Given the description of an element on the screen output the (x, y) to click on. 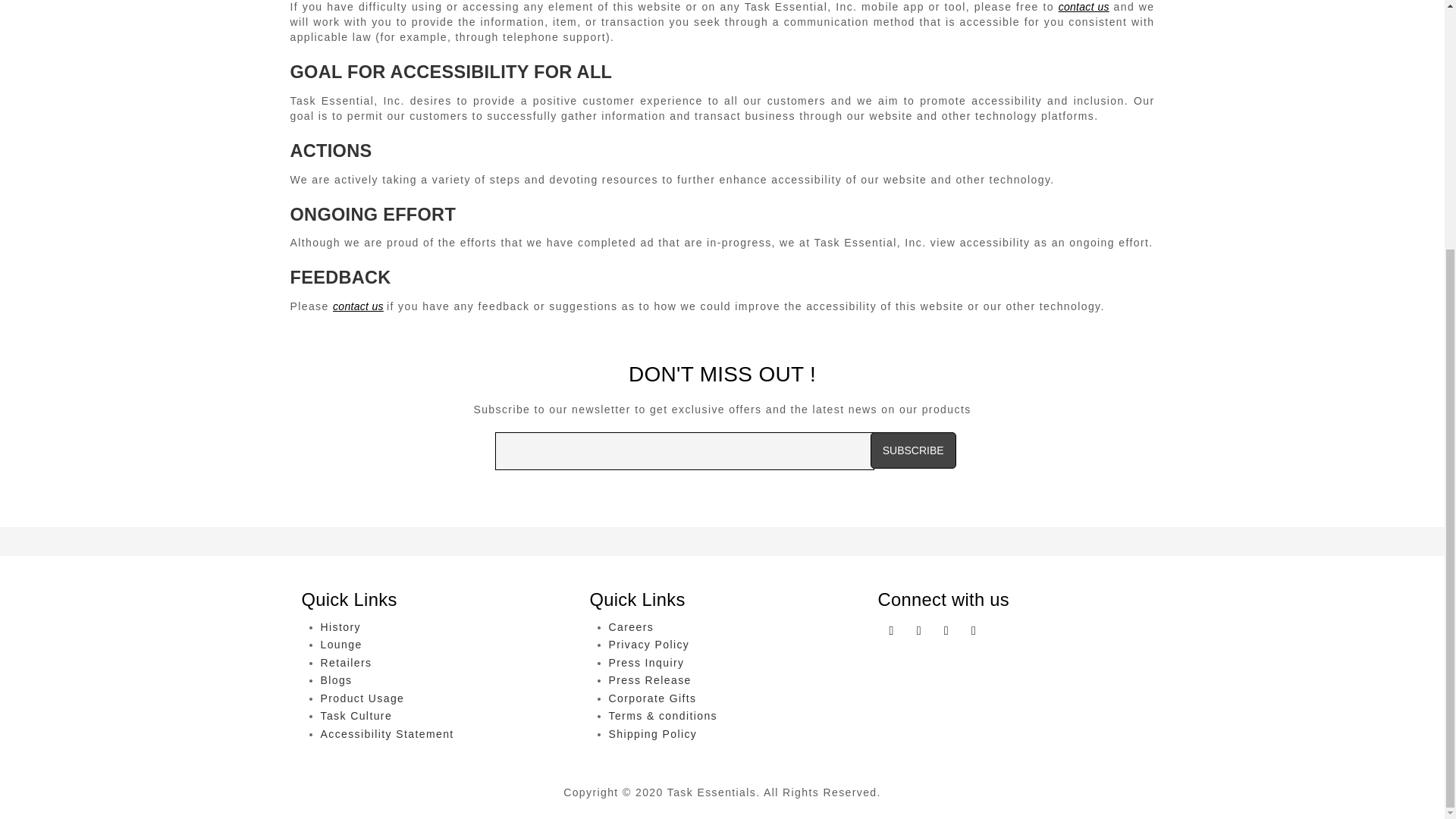
Subscribe (913, 450)
